Given the description of an element on the screen output the (x, y) to click on. 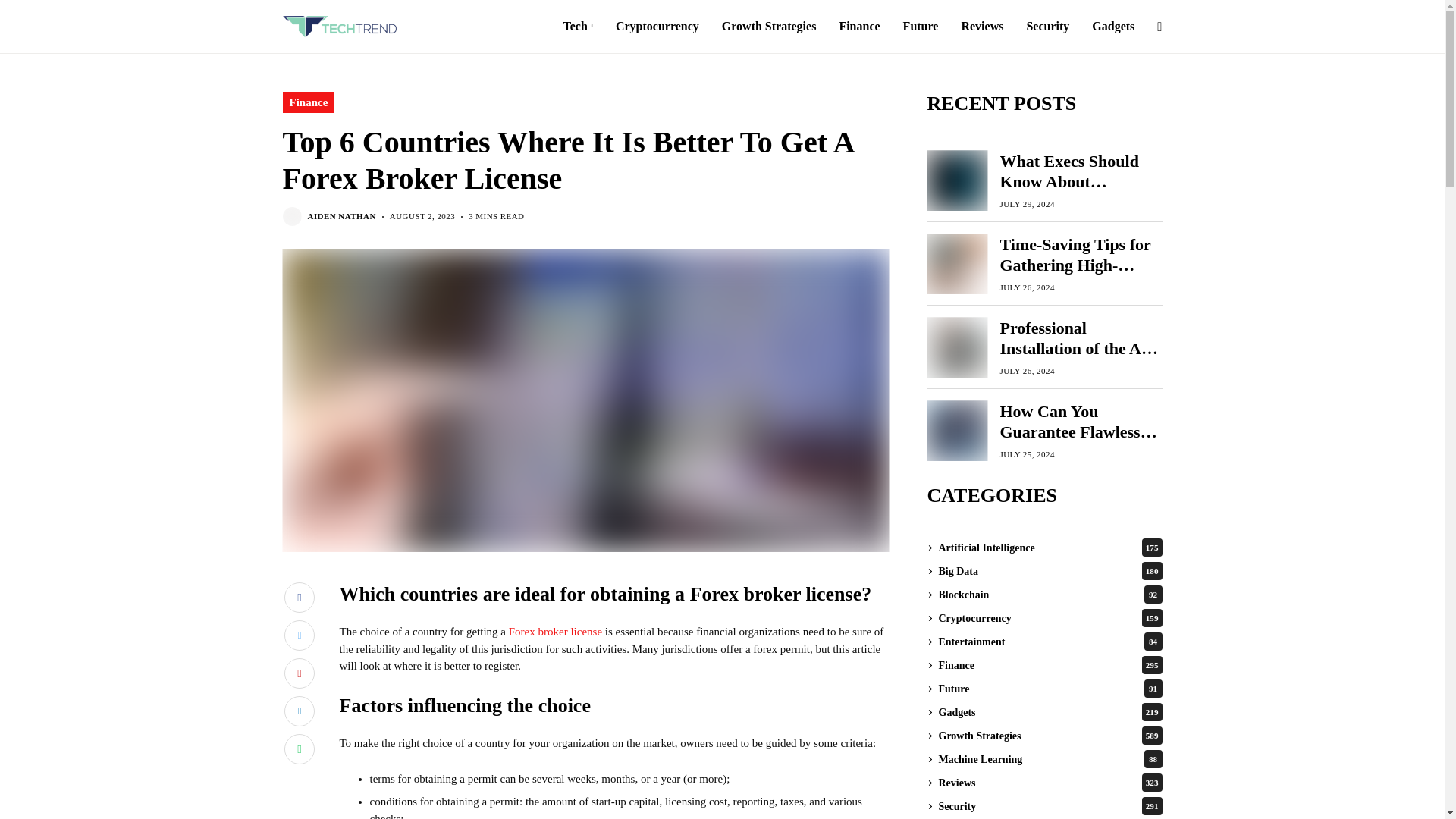
Cryptocurrency (656, 26)
Growth Strategies (769, 26)
Posts by Aiden Nathan (341, 216)
